Given the description of an element on the screen output the (x, y) to click on. 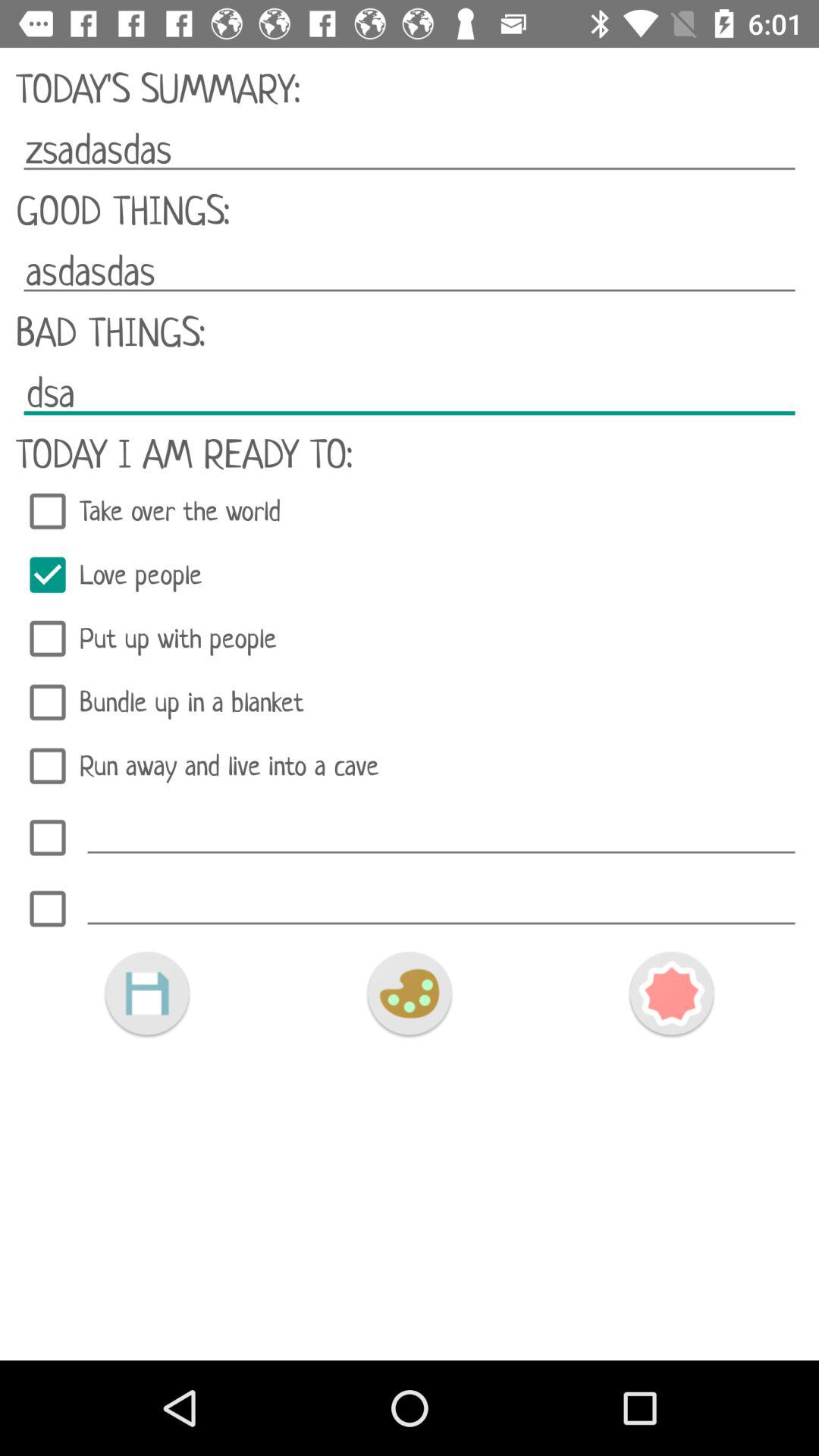
jump until put up with item (409, 638)
